Given the description of an element on the screen output the (x, y) to click on. 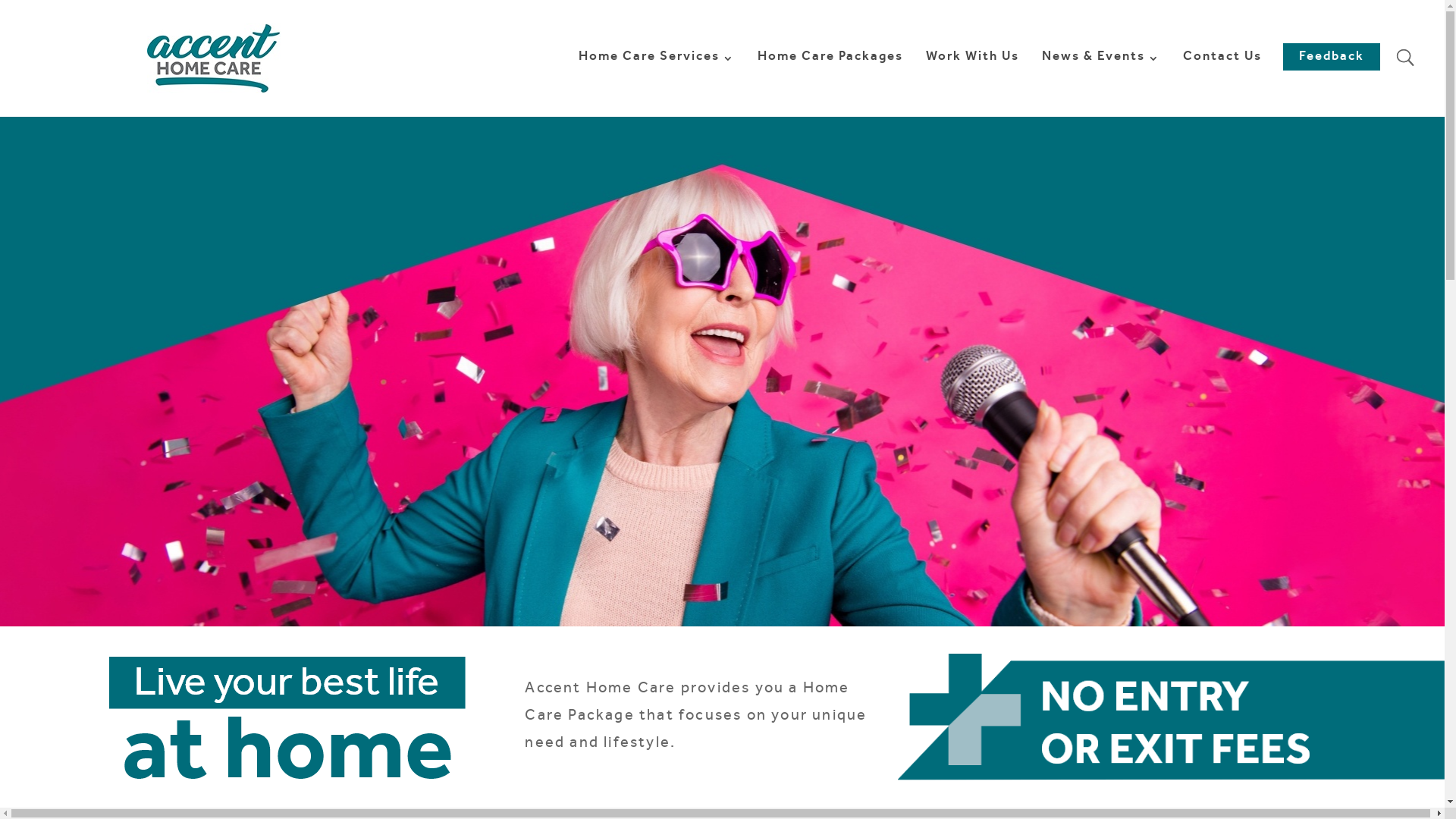
Feedback Element type: text (1331, 56)
Work With Us Element type: text (972, 84)
Home Care Services Element type: text (656, 84)
Contact Us Element type: text (1222, 84)
Home Care Packages Element type: text (830, 84)
News & Events Element type: text (1100, 84)
